Given the description of an element on the screen output the (x, y) to click on. 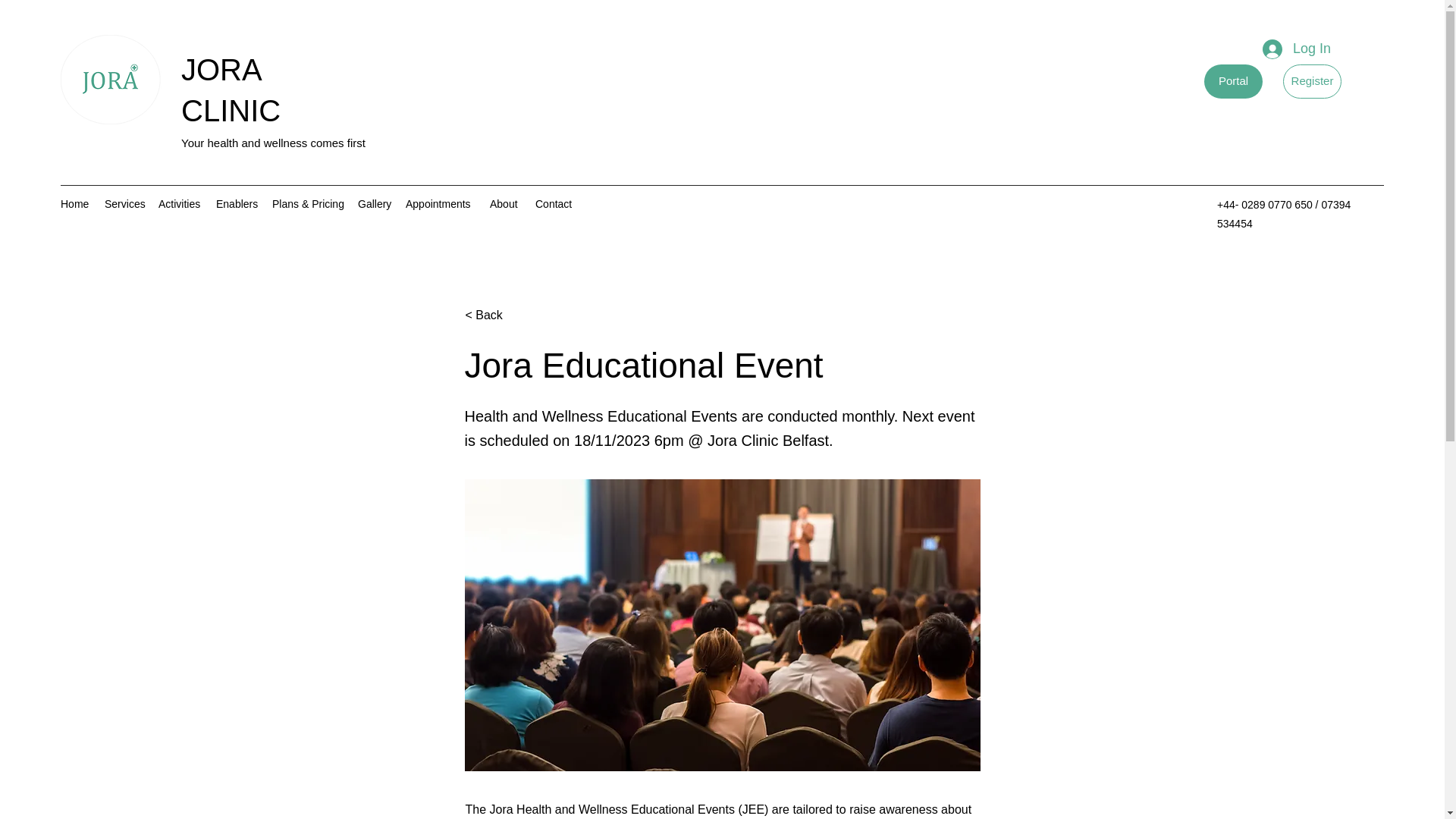
Home (74, 203)
Appointments (439, 203)
About (504, 203)
Gallery (373, 203)
Activities (179, 203)
Register (1311, 81)
Portal (1233, 81)
Enablers (236, 203)
Contact (553, 203)
